Given the description of an element on the screen output the (x, y) to click on. 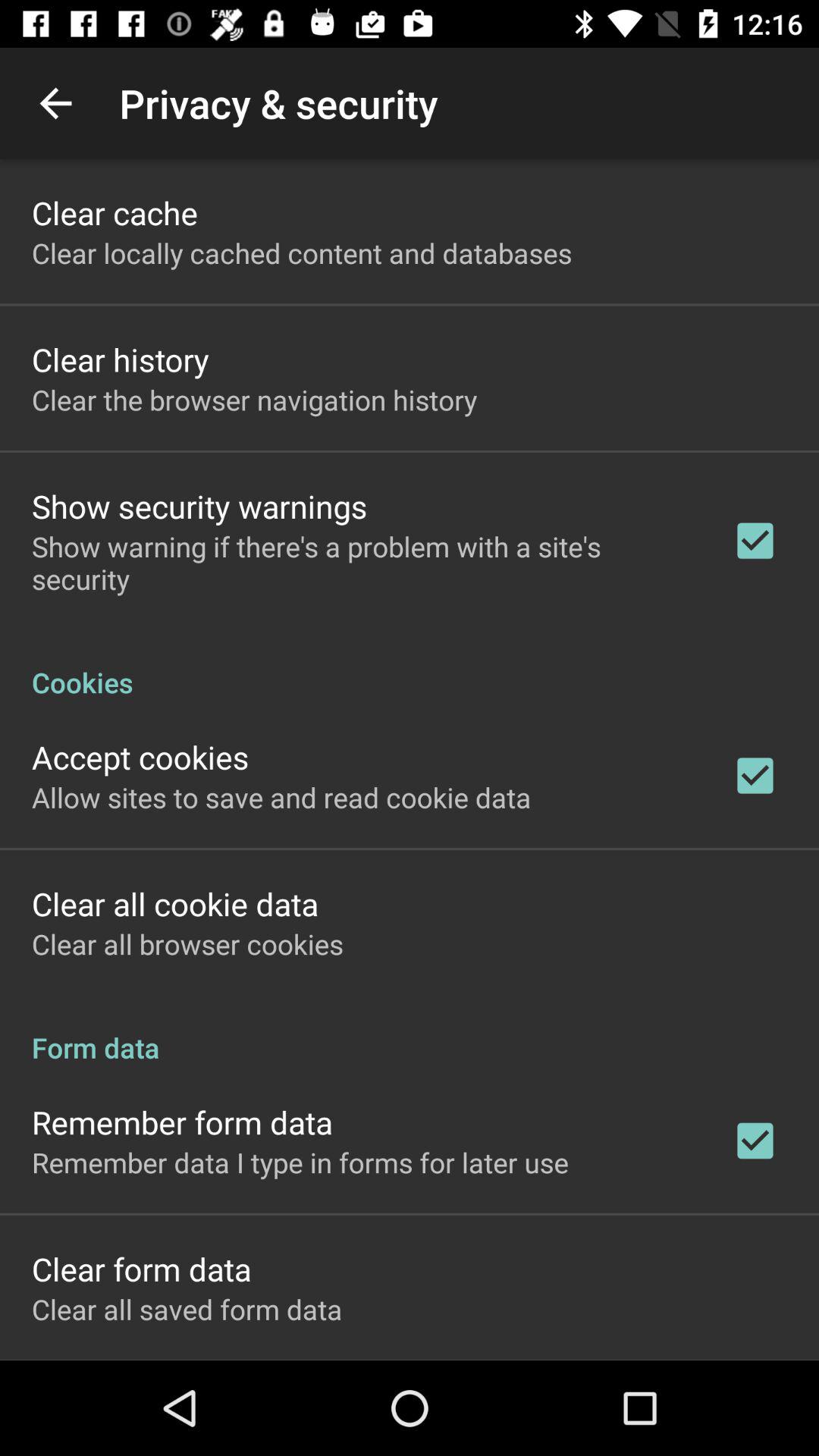
click the accept cookies item (140, 756)
